Given the description of an element on the screen output the (x, y) to click on. 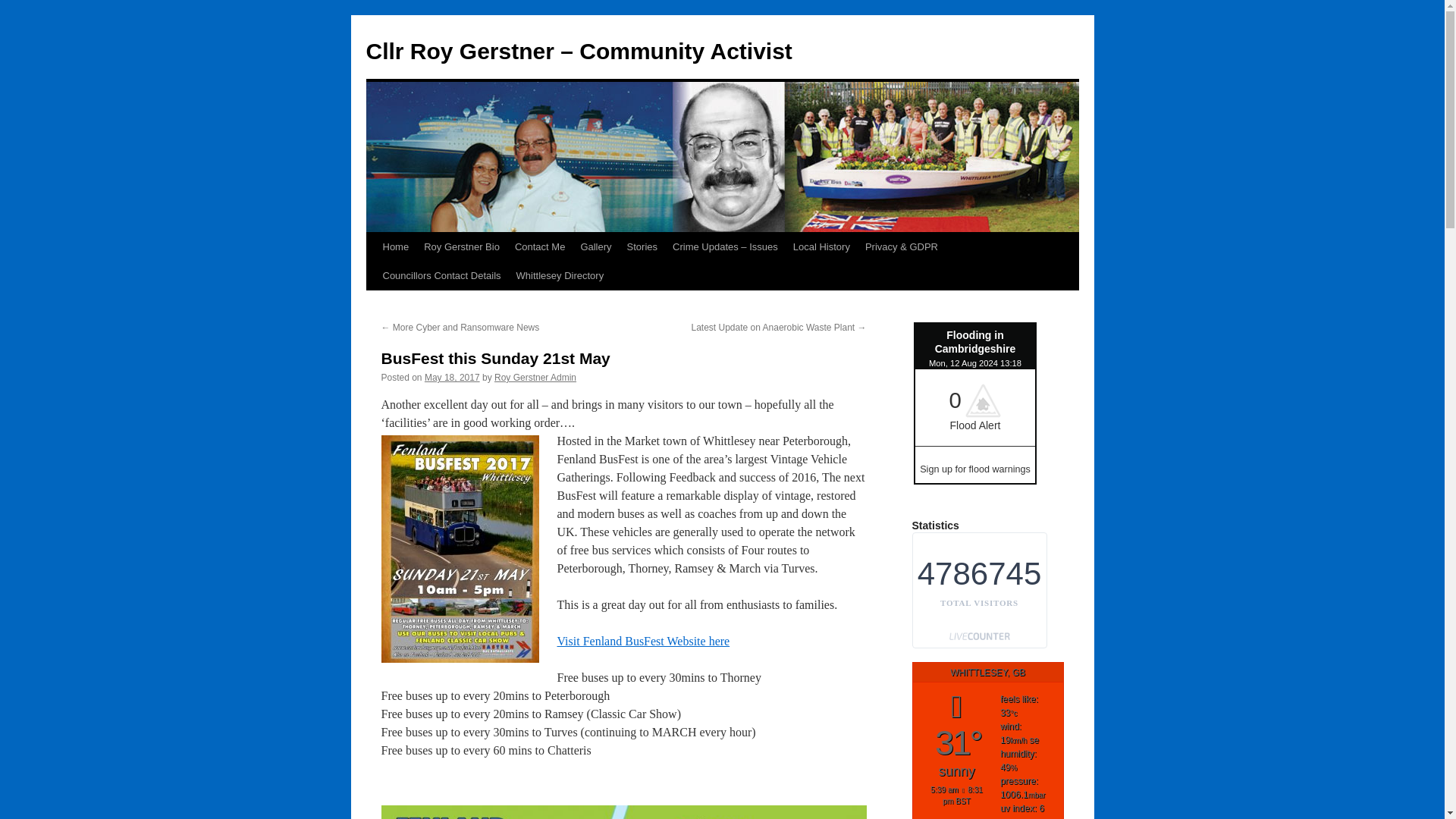
View all posts by Roy Gerstner Admin (535, 377)
Home (395, 246)
Stories (642, 246)
May 18, 2017 (452, 377)
6:58 pm (452, 377)
Local History (821, 246)
Roy Gerstner Admin (535, 377)
Gallery (595, 246)
Visit Fenland BusFest Website here (642, 640)
Councillors Contact Details (441, 275)
